Given the description of an element on the screen output the (x, y) to click on. 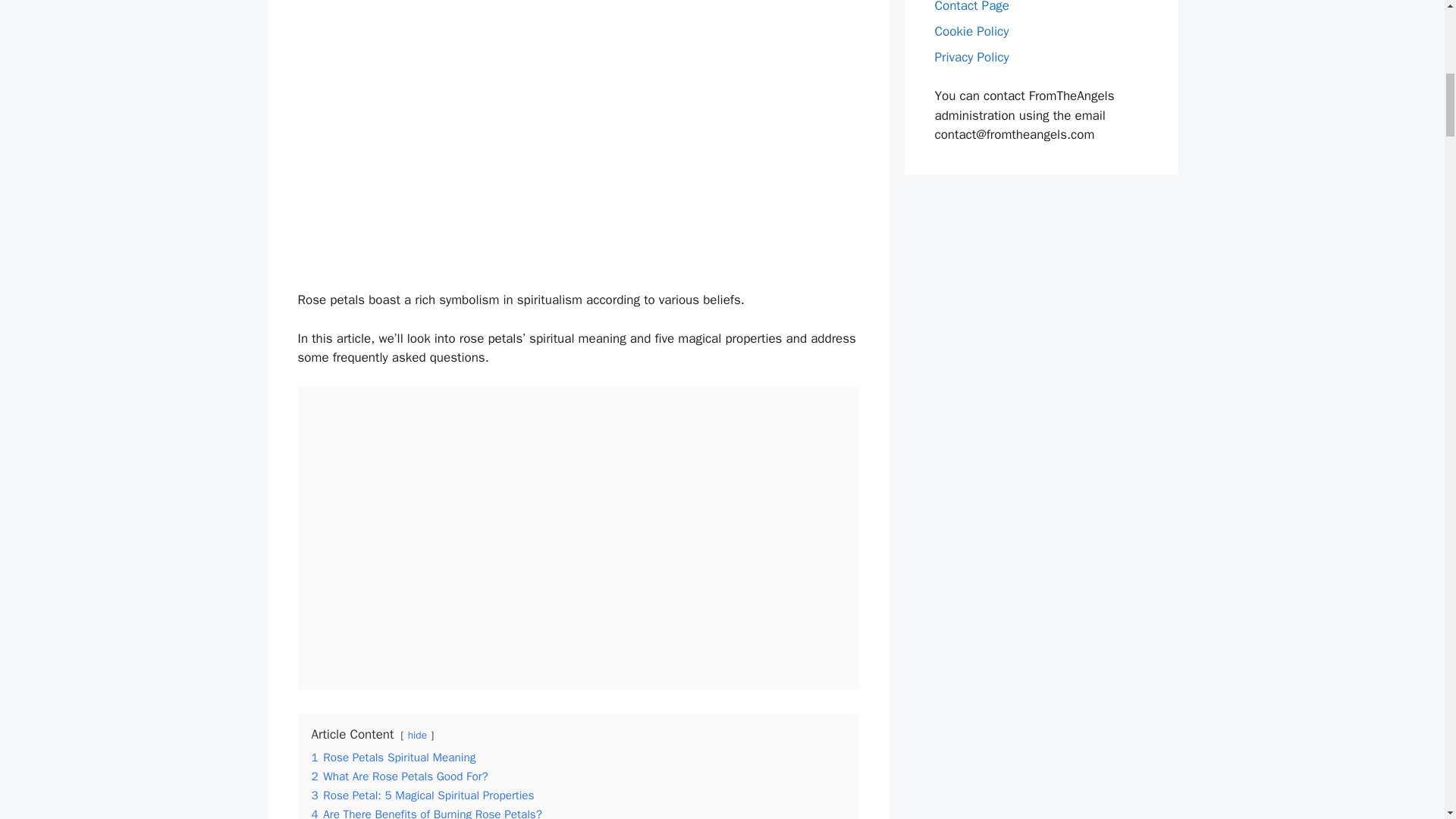
Privacy Policy (971, 57)
2 What Are Rose Petals Good For? (399, 776)
Contact Page (971, 6)
1 Rose Petals Spiritual Meaning (393, 757)
4 Are There Benefits of Burning Rose Petals? (426, 812)
3 Rose Petal: 5 Magical Spiritual Properties (422, 795)
hide (416, 735)
